Given the description of an element on the screen output the (x, y) to click on. 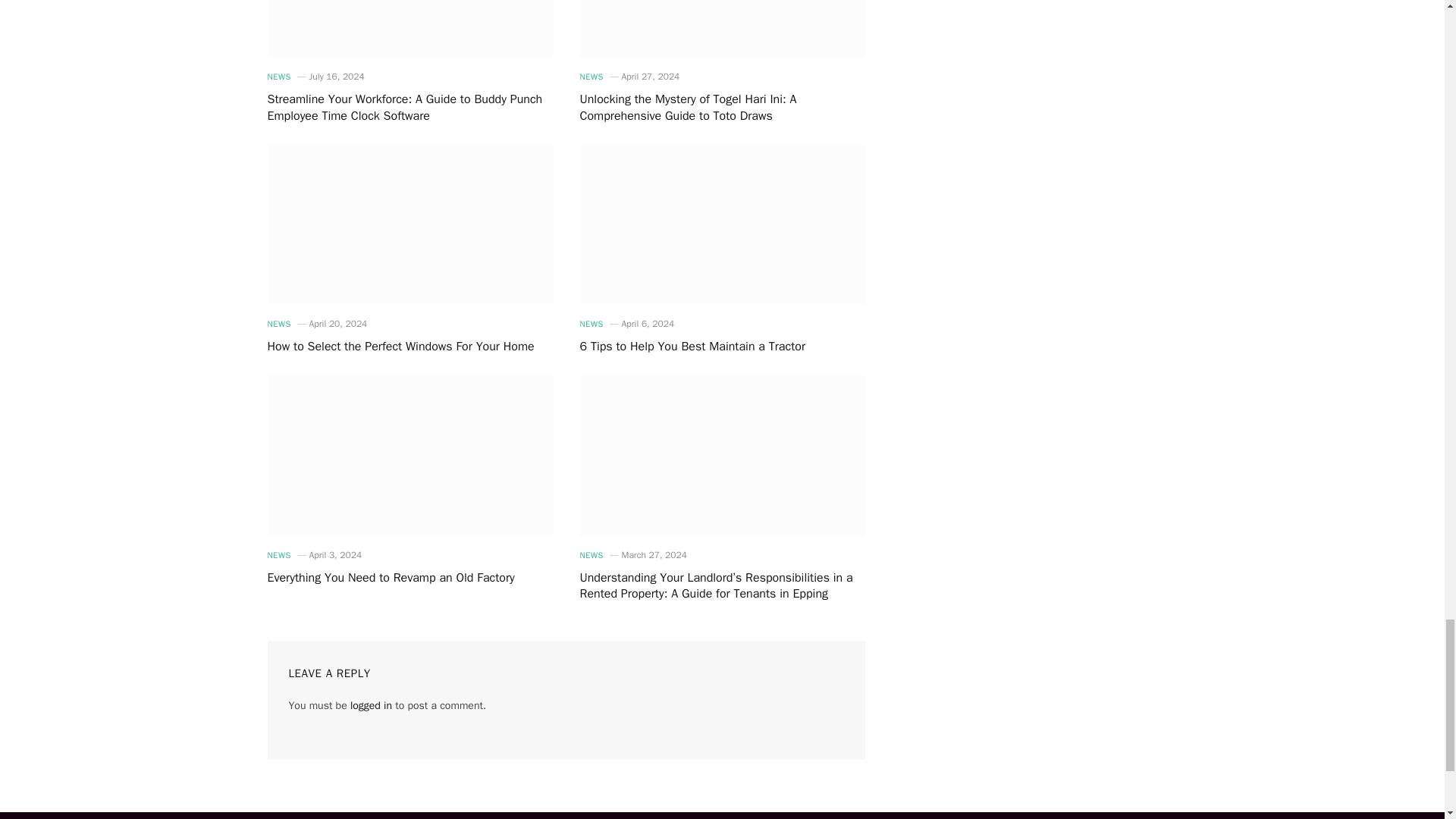
NEWS (277, 76)
